Given the description of an element on the screen output the (x, y) to click on. 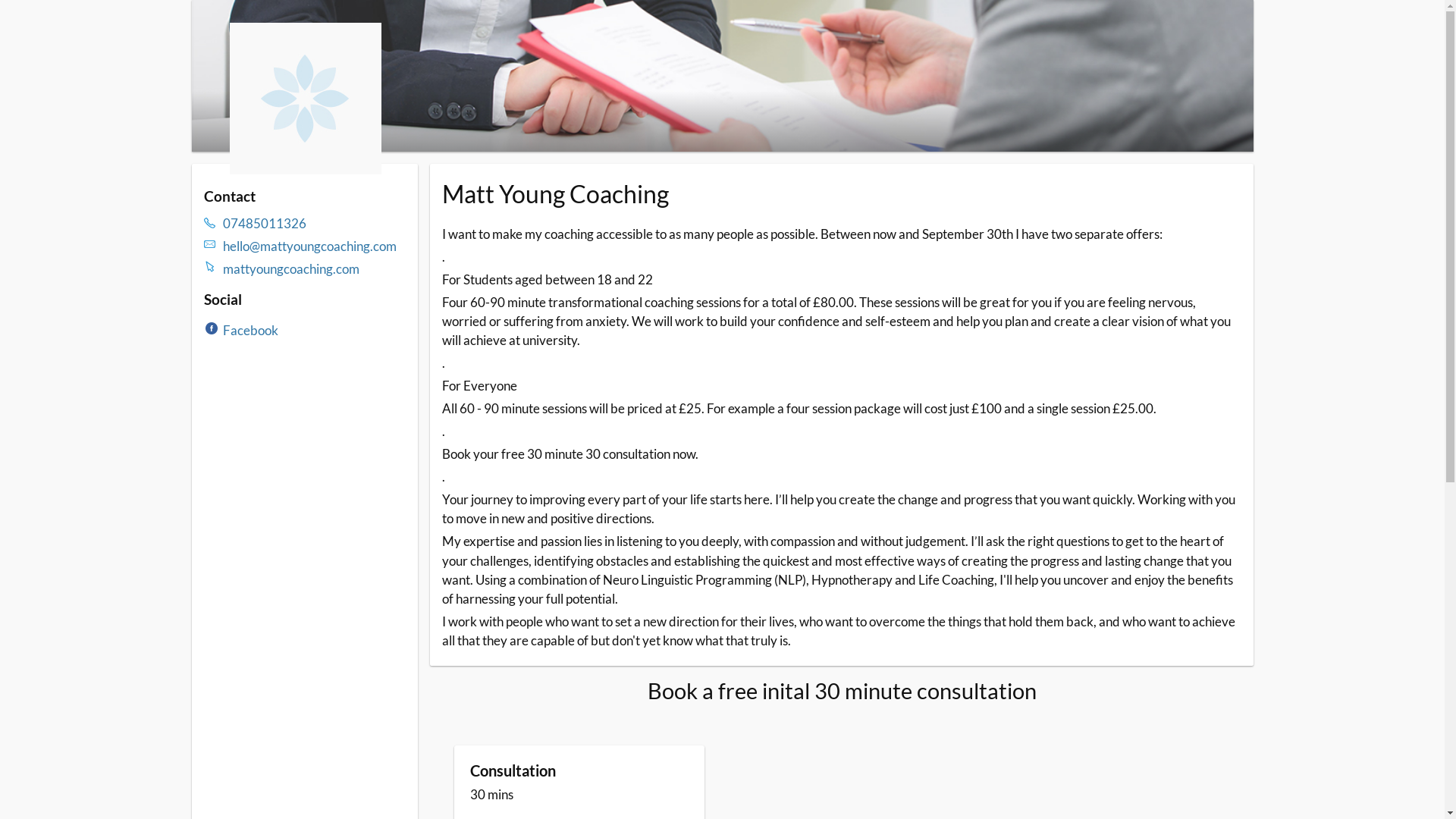
Facebook Element type: text (250, 330)
Skip to booking section Element type: text (280, 23)
hello@mattyoungcoaching.com Element type: text (314, 245)
mattyoungcoaching.com Element type: text (314, 268)
07485011326 Element type: text (314, 222)
